Given the description of an element on the screen output the (x, y) to click on. 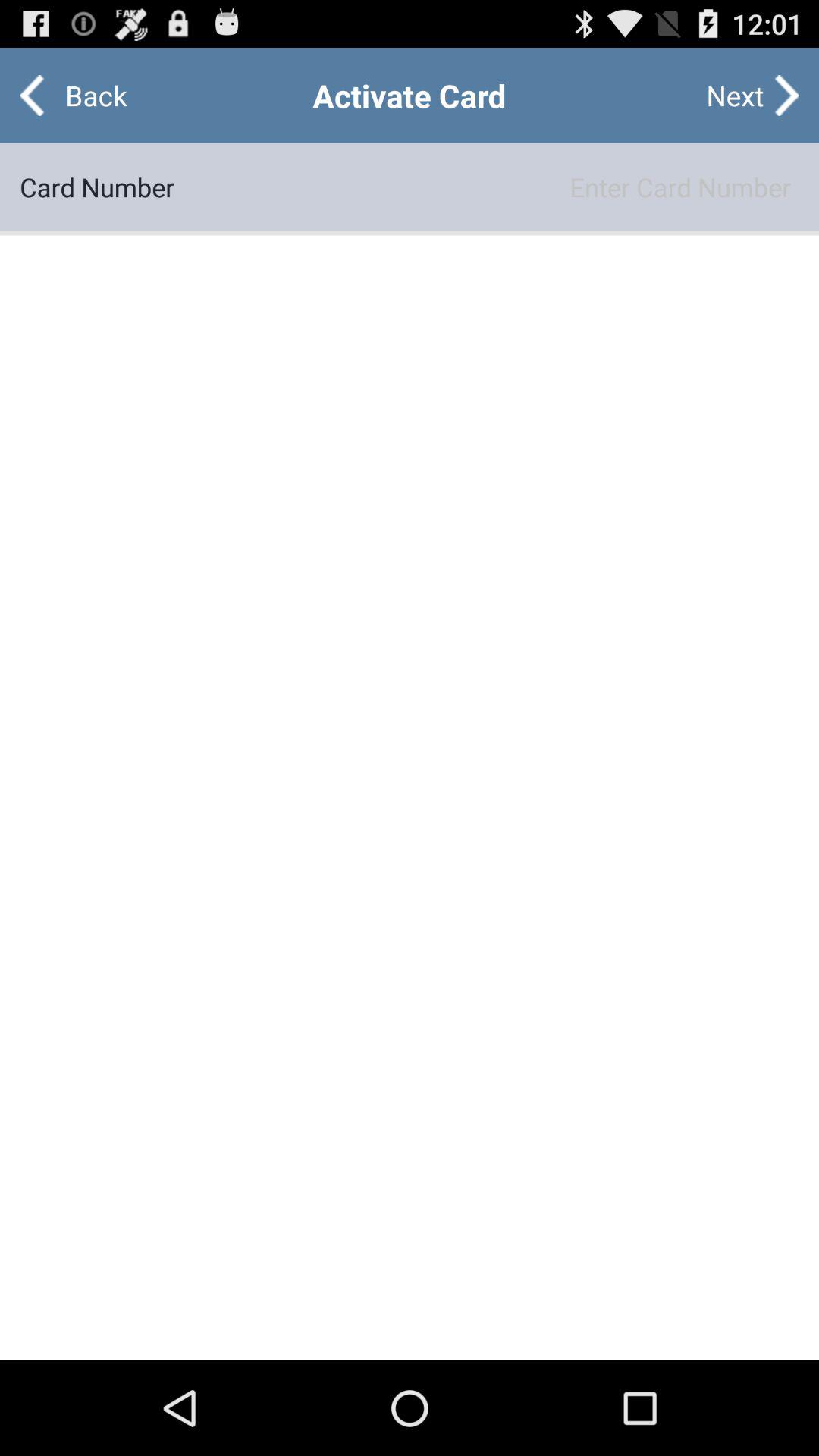
launch icon to the right of the back item (735, 95)
